Given the description of an element on the screen output the (x, y) to click on. 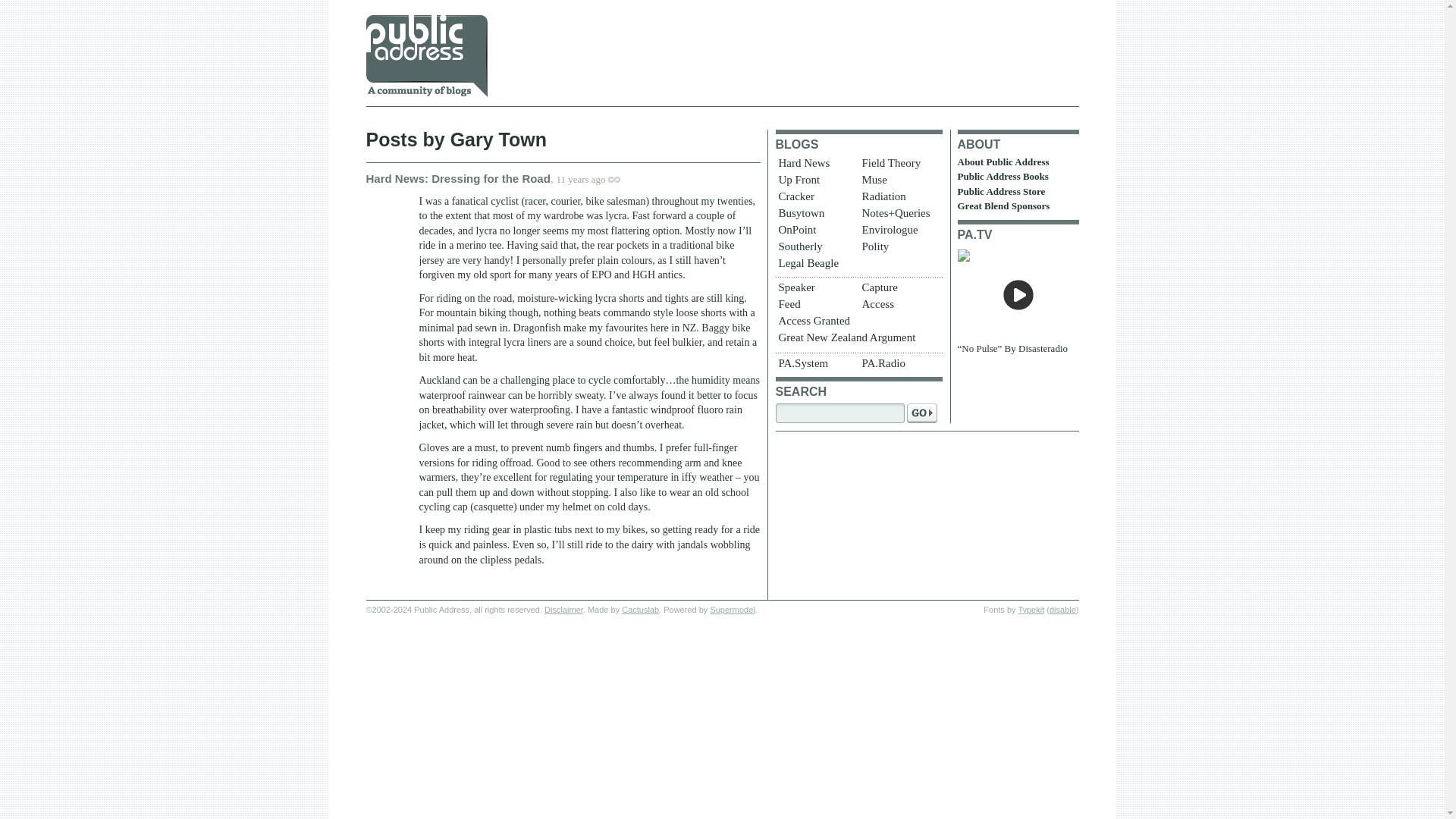
Access (899, 305)
disable (1062, 609)
Hard News (815, 164)
About Public Address (1002, 161)
Muse (899, 180)
Public Address Store (1000, 191)
Disclaimer (563, 609)
Typekit (1030, 609)
Capture (899, 288)
Hard News: Dressing for the Road (457, 177)
PA.Radio (899, 364)
Great Blend Sponsors (1002, 205)
OnPoint (815, 230)
Up Front (815, 180)
11 years ago (595, 178)
